Given the description of an element on the screen output the (x, y) to click on. 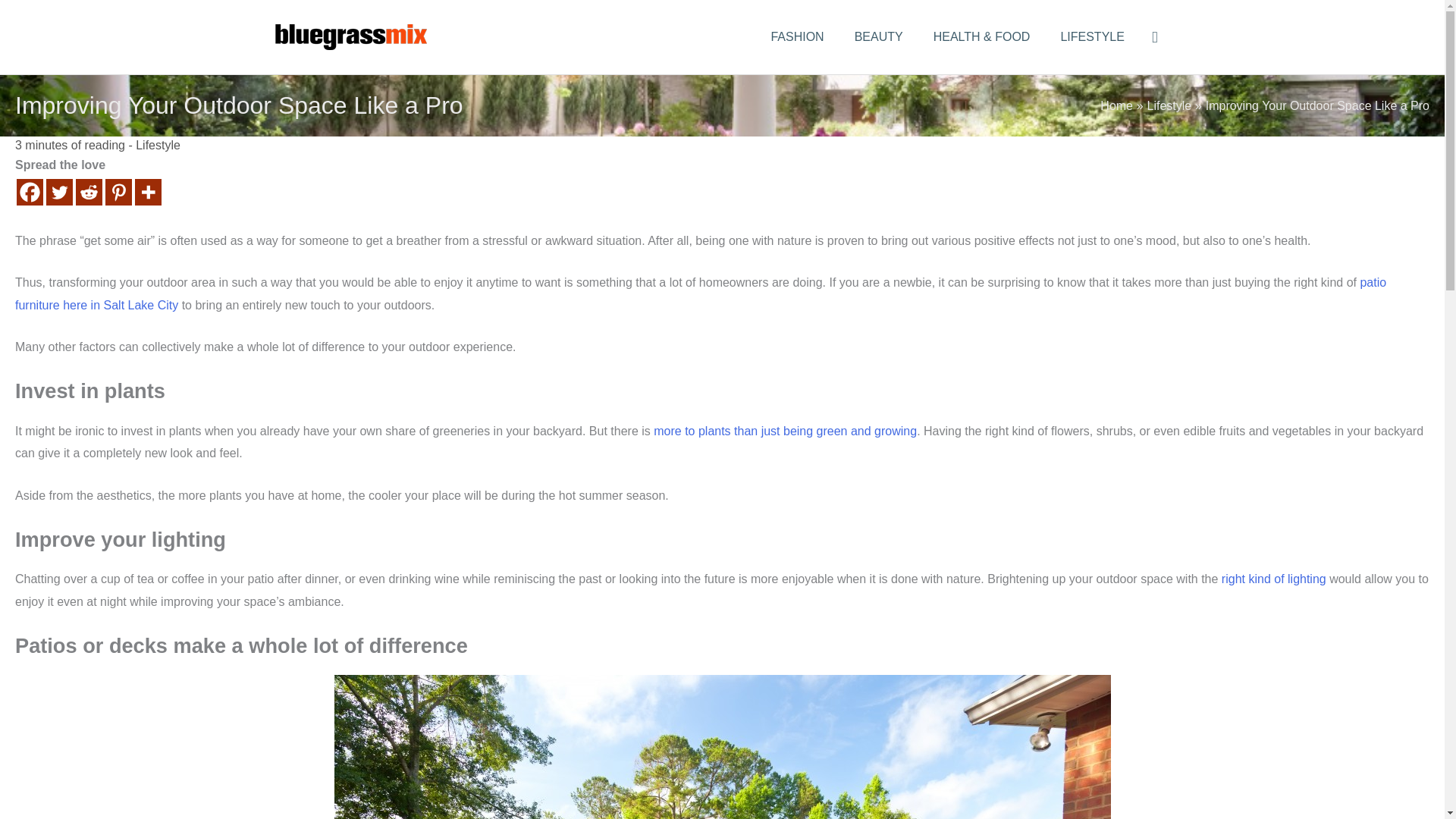
Twitter (59, 192)
more to plants than just being green and growing (785, 431)
BEAUTY (879, 37)
Facebook (29, 192)
patio furniture here in Salt Lake City (700, 294)
Home (1116, 105)
Lifestyle (157, 144)
Guild Hall Home Furnishings  (700, 294)
More (148, 192)
FASHION (796, 37)
Reddit (88, 192)
Pinterest (118, 192)
LIFESTYLE (1091, 37)
Lifestyle (1169, 105)
right kind of lighting (1273, 578)
